Given the description of an element on the screen output the (x, y) to click on. 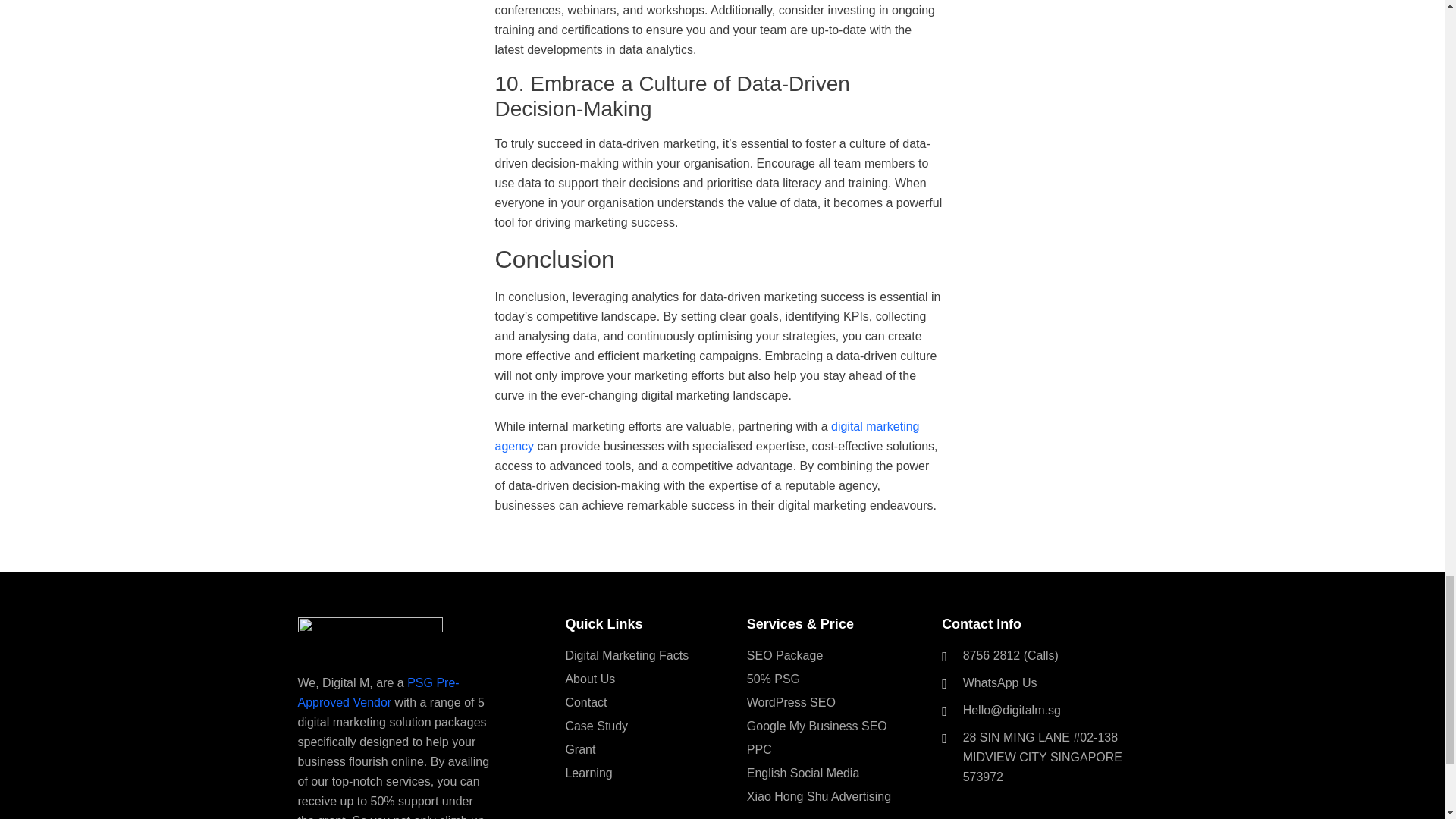
digital marketing agency (707, 436)
